Given the description of an element on the screen output the (x, y) to click on. 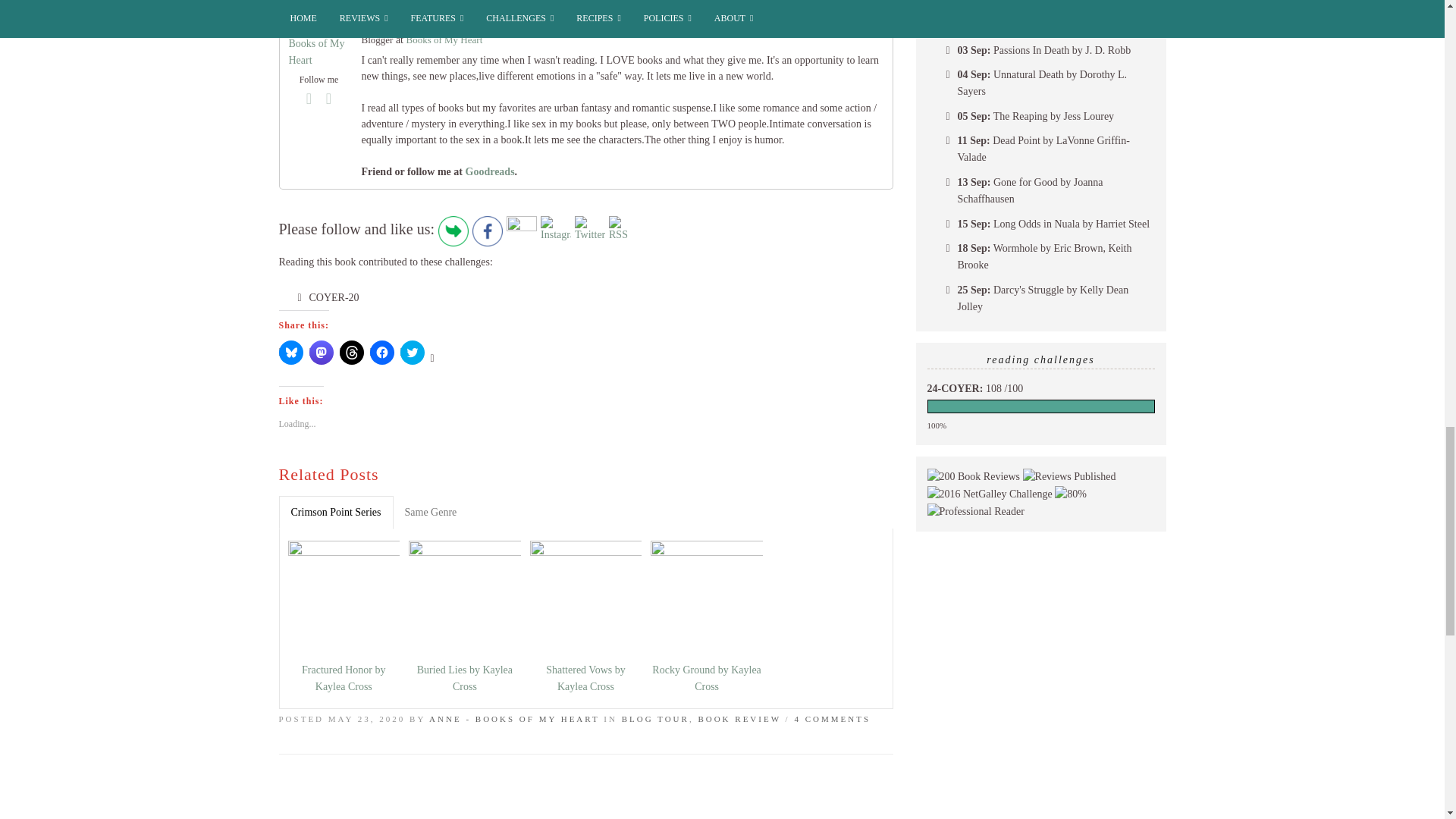
Twitter (328, 98)
Follow by Email (453, 231)
Anne - Books of My Heart (318, 42)
Instagram (555, 228)
Facebook (486, 231)
Facebook (308, 98)
Twitter (590, 228)
